Given the description of an element on the screen output the (x, y) to click on. 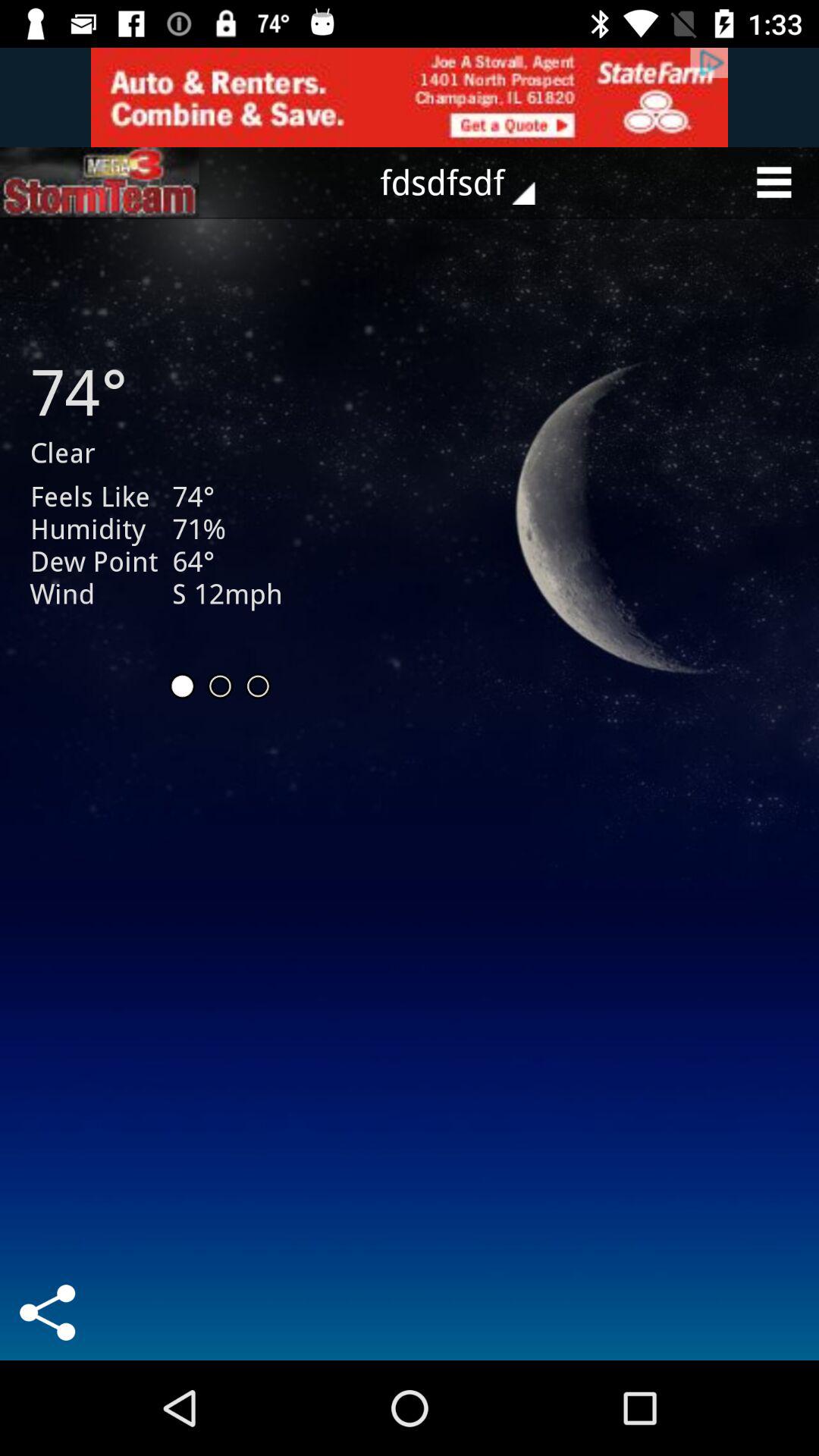
advertisement (409, 97)
